Given the description of an element on the screen output the (x, y) to click on. 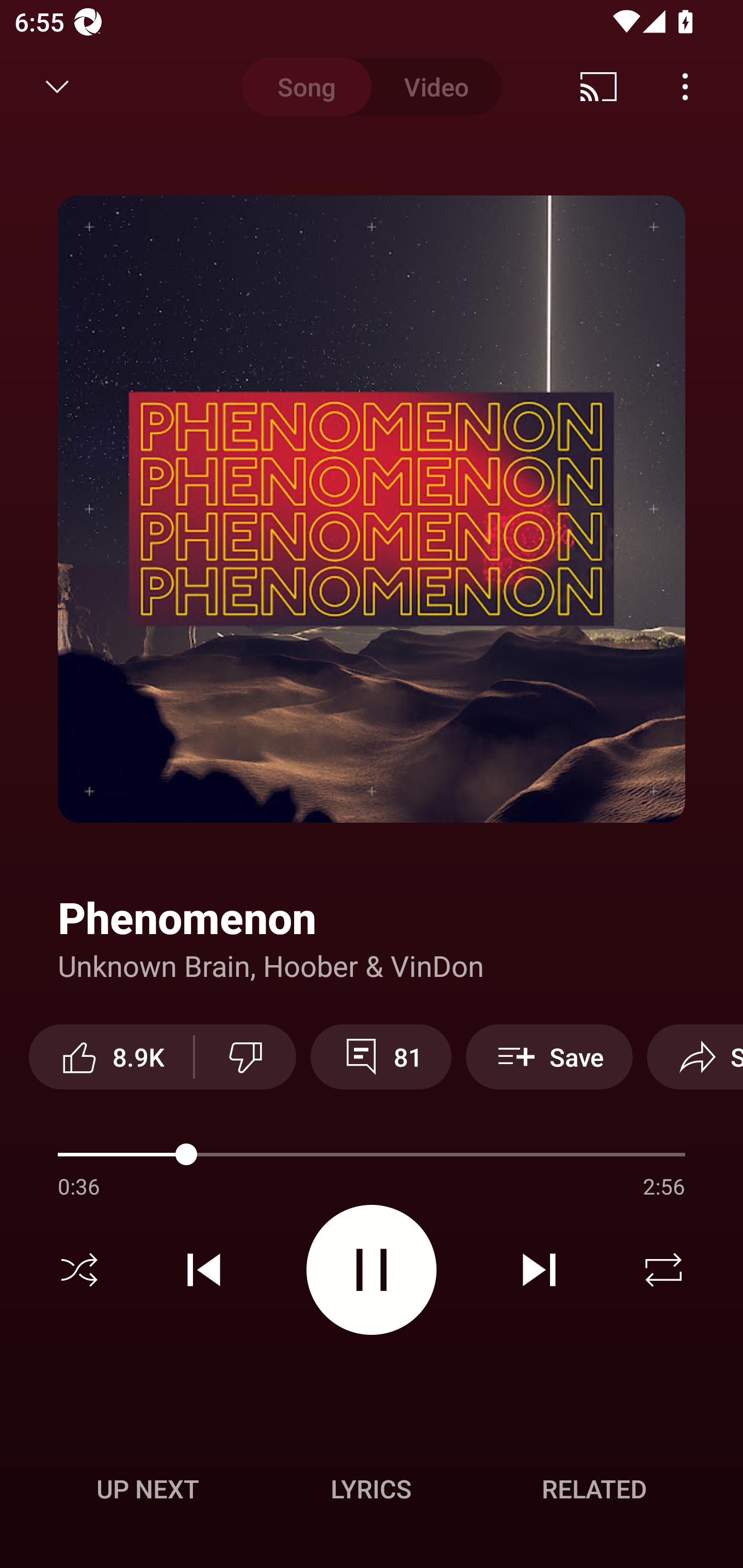
Minimize (57, 86)
Cast. Disconnected (598, 86)
Menu (684, 86)
8.9K like this video along with 8,972 other people (110, 1056)
Dislike (245, 1056)
81 View 81 comments (380, 1056)
Save Save to playlist (548, 1056)
Share (695, 1056)
Pause video (371, 1269)
Shuffle off (79, 1269)
Previous track (203, 1269)
Next track (538, 1269)
Repeat off (663, 1269)
Up next UP NEXT Lyrics LYRICS Related RELATED (371, 1491)
Lyrics LYRICS (370, 1488)
Related RELATED (594, 1488)
